Given the description of an element on the screen output the (x, y) to click on. 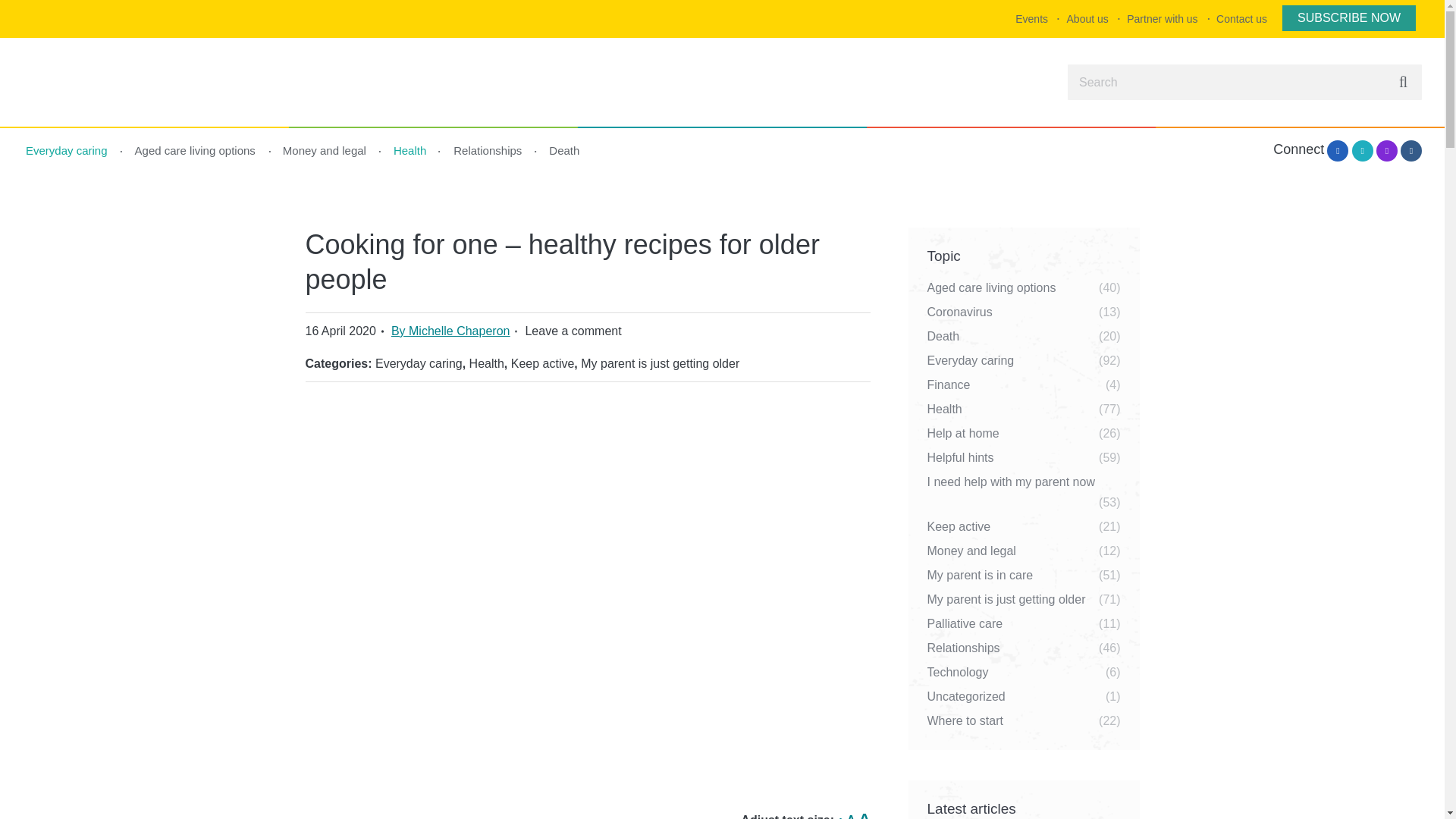
My parent is just getting older (659, 363)
Increase font size (864, 814)
Health (409, 150)
View all posts by Michelle Chaperon (1161, 18)
Death (454, 331)
Everyday caring (564, 150)
Everyday caring (66, 150)
16 April 2020 (419, 363)
